Given the description of an element on the screen output the (x, y) to click on. 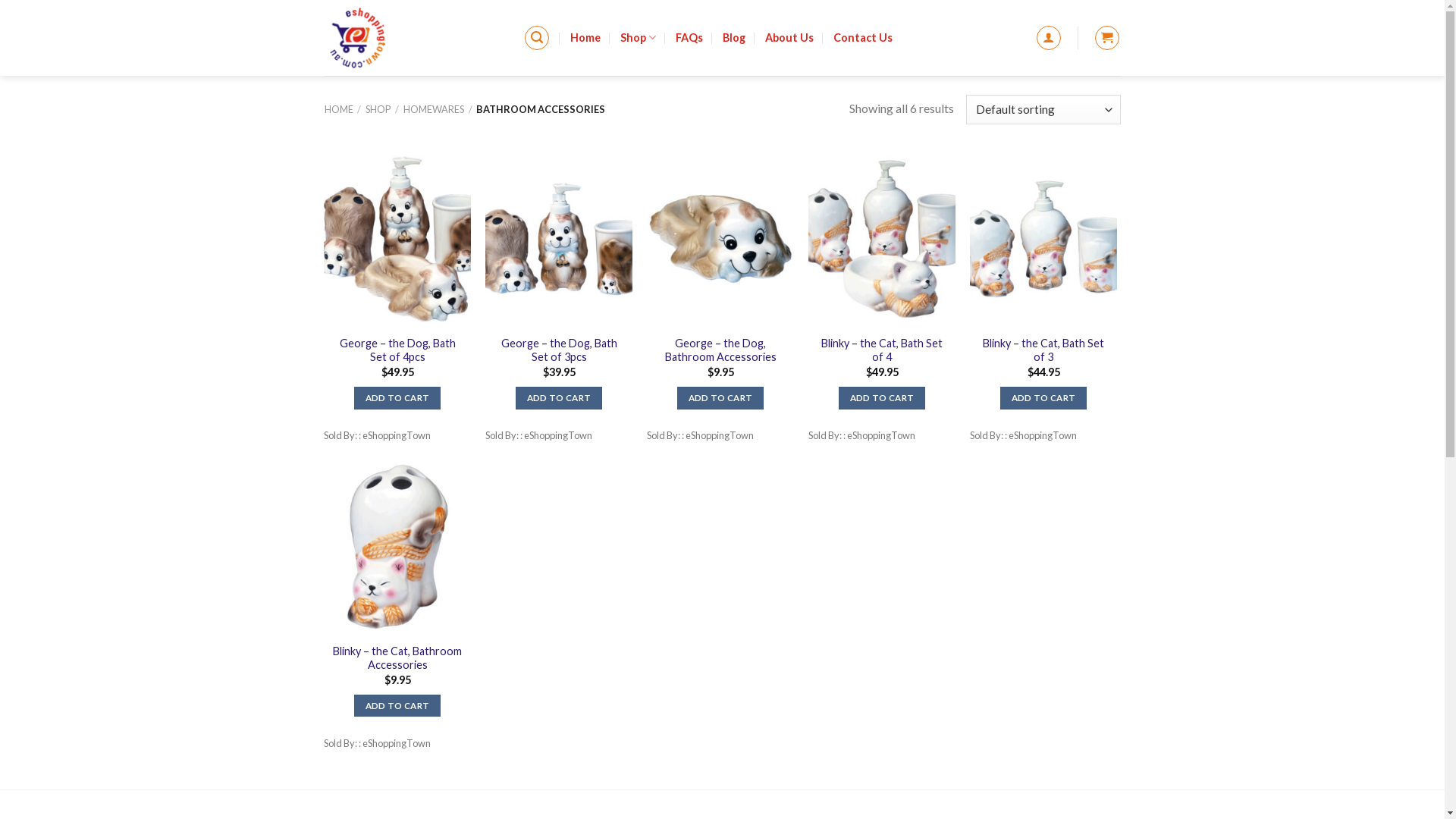
Contact Us Element type: text (862, 37)
ADD TO CART Element type: text (1043, 397)
Cart Element type: hover (1107, 37)
Blog Element type: text (733, 37)
About Us Element type: text (789, 37)
FAQs Element type: text (688, 37)
ADD TO CART Element type: text (397, 397)
ADD TO CART Element type: text (720, 397)
Shop Element type: text (637, 37)
HOMEWARES Element type: text (433, 109)
SHOP Element type: text (377, 109)
ADD TO CART Element type: text (397, 705)
eShoppingTown Element type: hover (412, 37)
ADD TO CART Element type: text (881, 397)
HOME Element type: text (338, 109)
ADD TO CART Element type: text (558, 397)
Home Element type: text (585, 37)
